Given the description of an element on the screen output the (x, y) to click on. 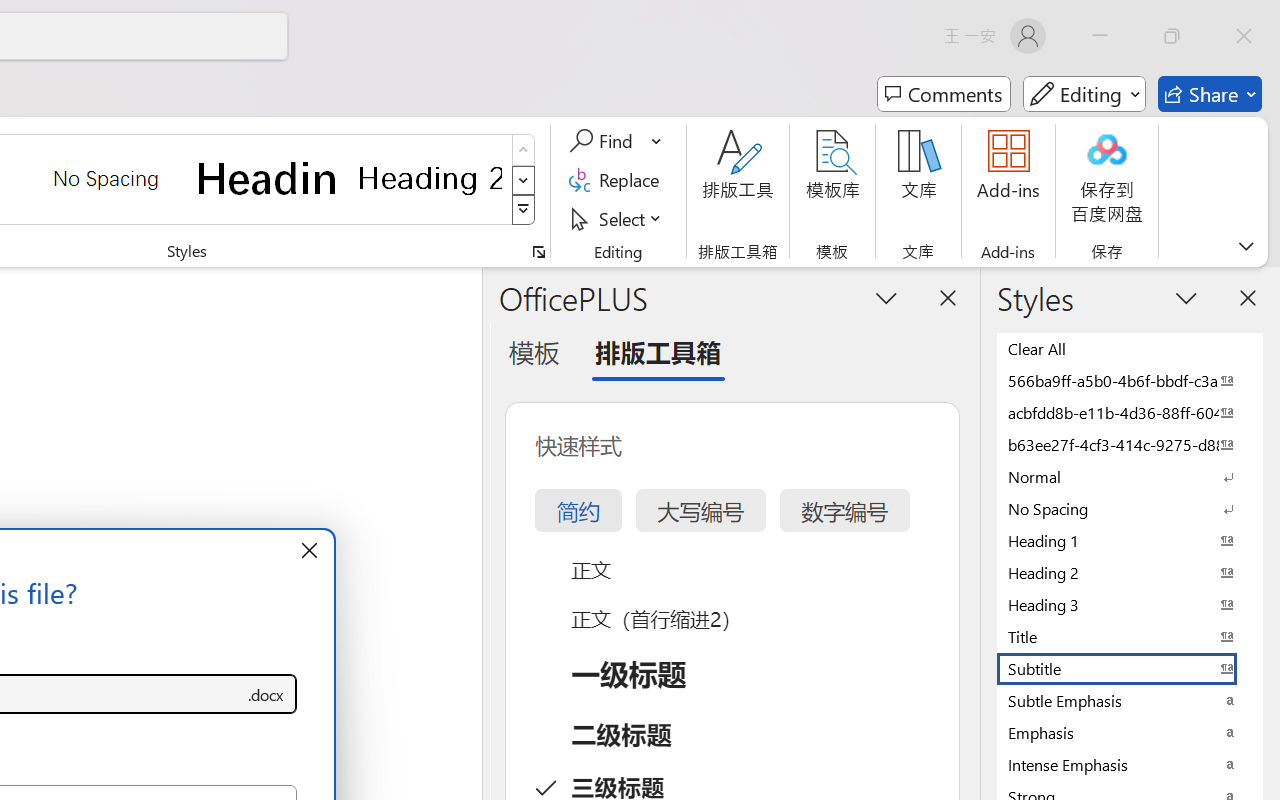
Styles... (538, 252)
Task Pane Options (886, 297)
Replace... (617, 179)
Row Down (523, 180)
Row up (523, 150)
acbfdd8b-e11b-4d36-88ff-6049b138f862 (1130, 412)
b63ee27f-4cf3-414c-9275-d88e3f90795e (1130, 444)
566ba9ff-a5b0-4b6f-bbdf-c3ab41993fc2 (1130, 380)
Heading 3 (1130, 604)
Intense Emphasis (1130, 764)
Heading 2 (429, 178)
